Given the description of an element on the screen output the (x, y) to click on. 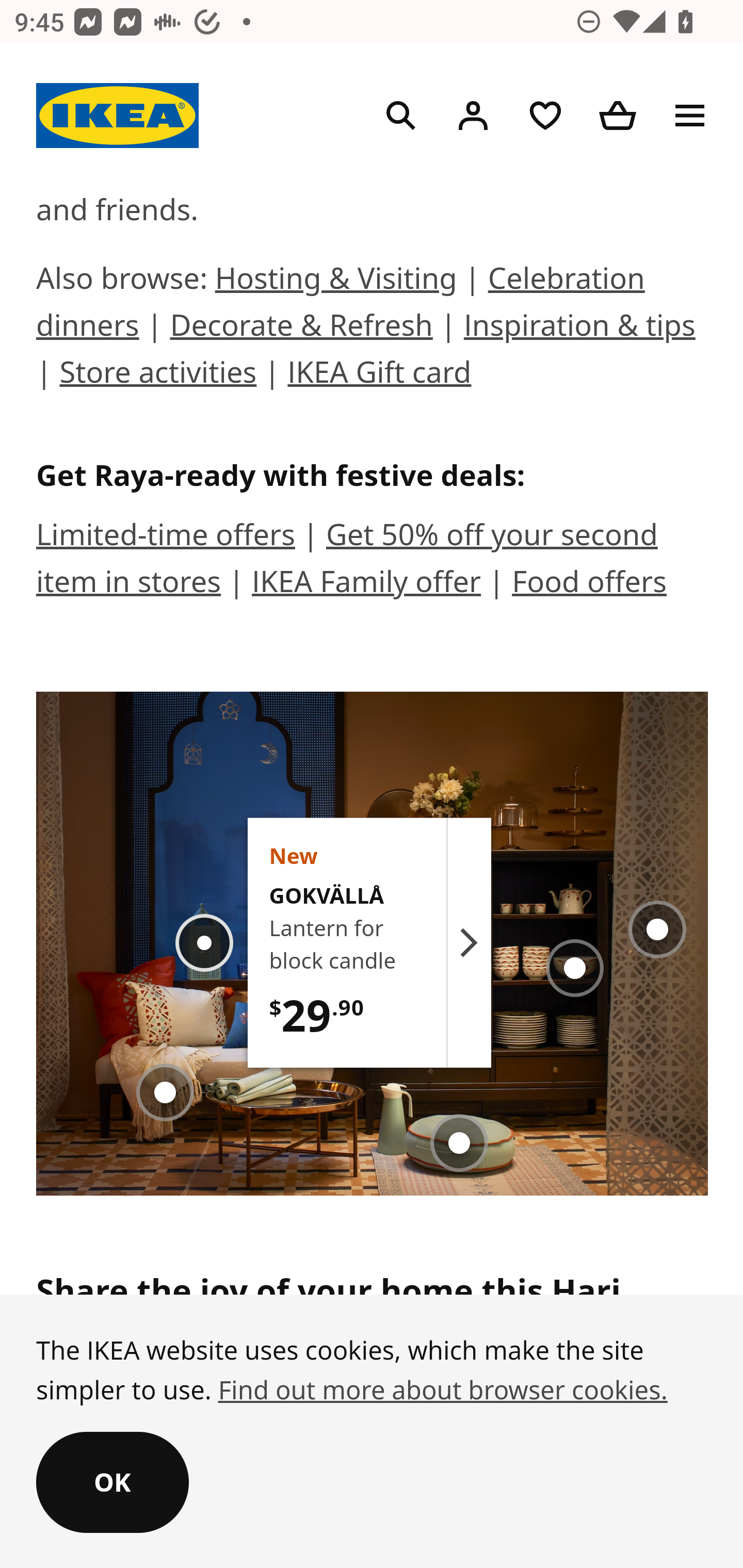
Search (401, 117)
profile (472, 117)
Shopping list (544, 117)
Shopping cart (618, 117)
Menu (690, 117)
IKEA logotype, go to start page (117, 116)
Celebration dinners (341, 304)
Hosting & Visiting (335, 280)
Decorate & Refresh (301, 327)
Inspiration & tips (579, 327)
Store activities (157, 374)
IKEA Gift card (379, 374)
Limited-time offers (166, 536)
Get 50% off your second item in stores (347, 560)
IKEA Family offer (366, 583)
Food offers (589, 583)
OK (112, 1484)
